Given the description of an element on the screen output the (x, y) to click on. 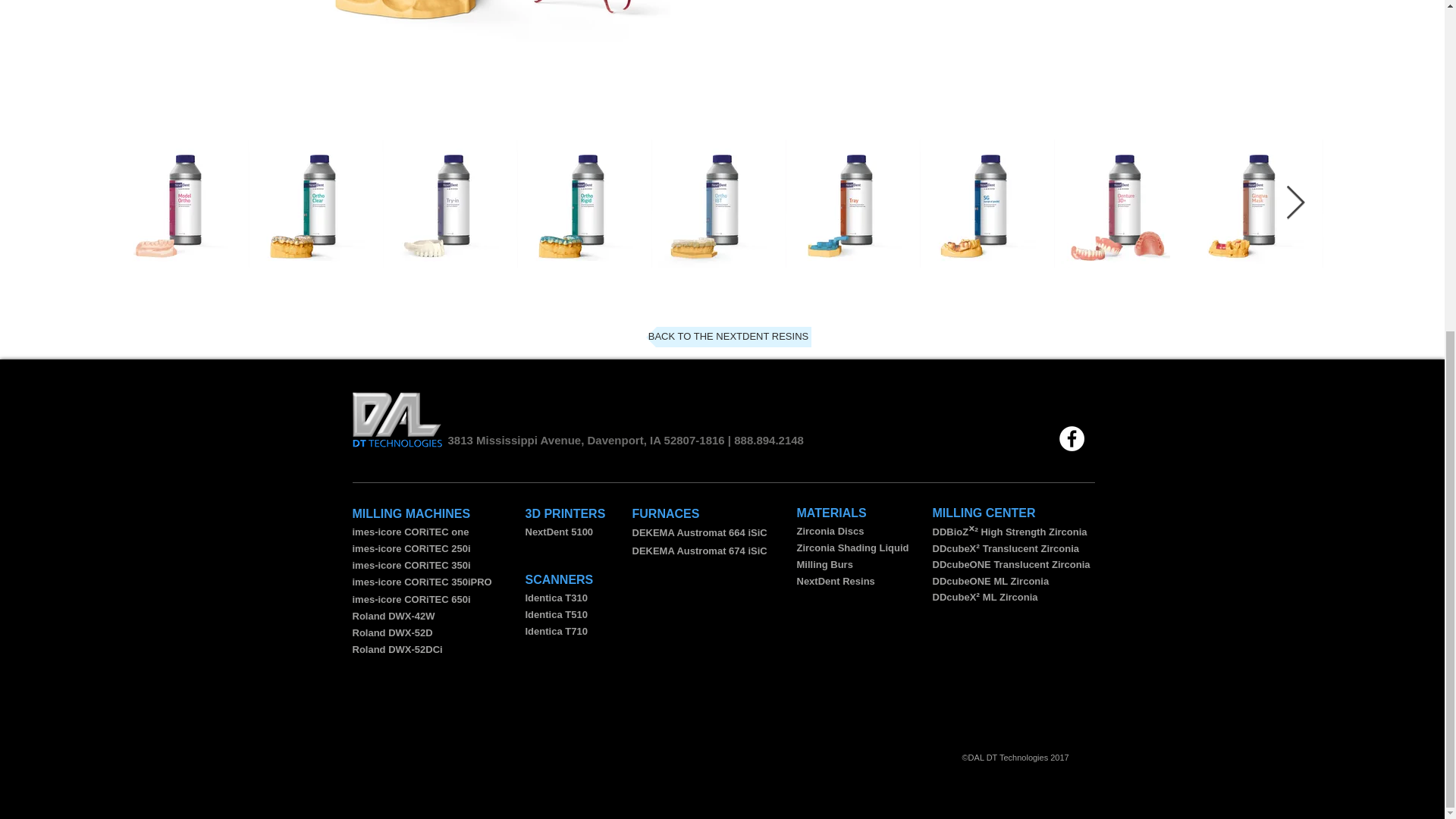
MILLING MACHINES (411, 513)
MATERIALS (831, 512)
DEKEMA Austromat 674 iSiC (699, 549)
Roland DWX-42W (392, 615)
imes-icore CORiTEC 650i (411, 599)
imes-icore CORiTEC 350iPRO (422, 582)
Roland DWX-52DCi (397, 649)
NextDent Resins (835, 581)
DEKEMA Austromat 664 iSiC (699, 531)
Identica T510 (555, 614)
MILLING (959, 512)
CENTER (1010, 512)
NextDent Cast (481, 24)
Identica T310 (555, 597)
FURNACES (665, 513)
